Given the description of an element on the screen output the (x, y) to click on. 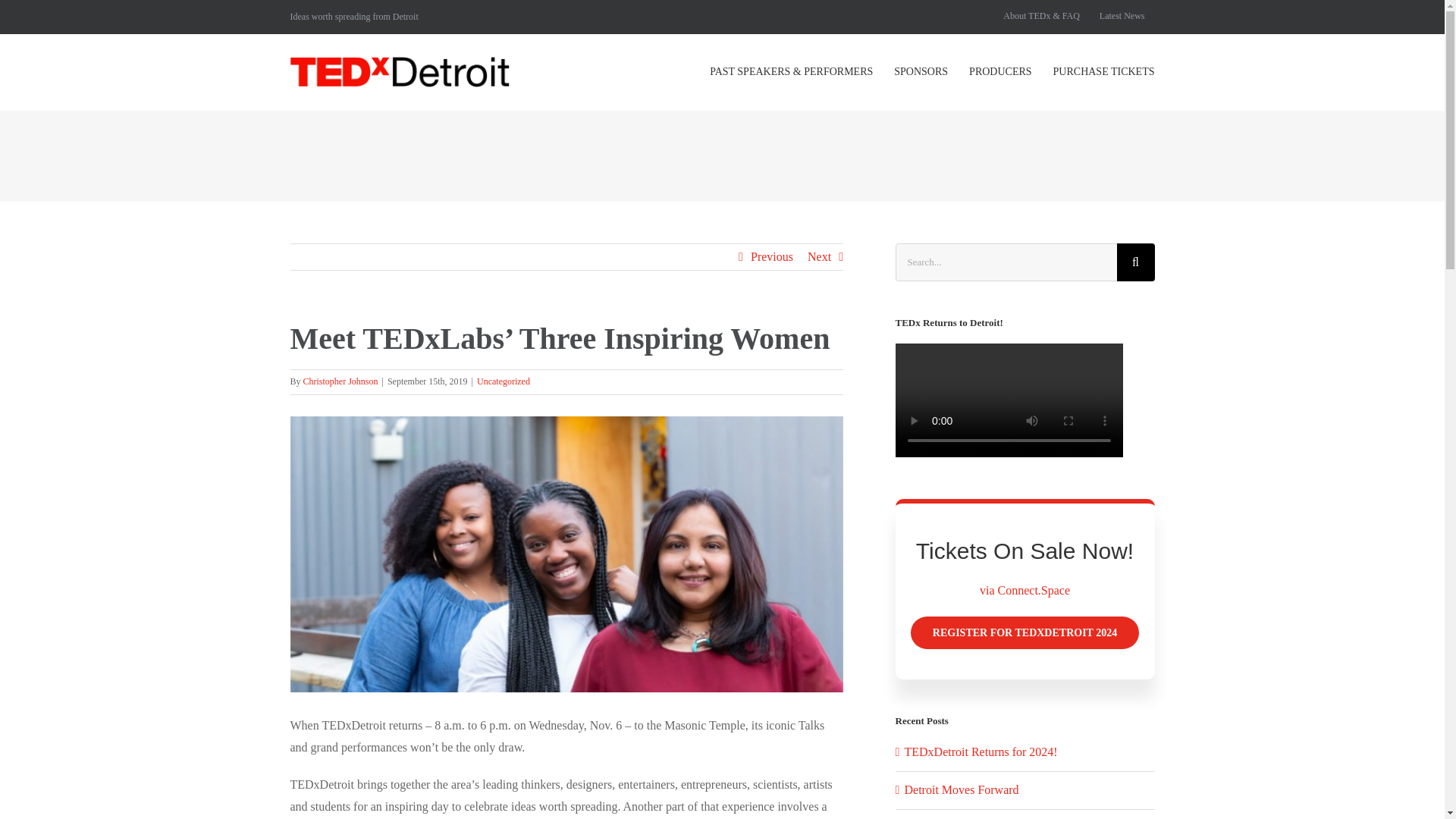
PRODUCERS (999, 71)
PURCHASE TICKETS (1103, 71)
via Connect.Space (1024, 590)
Posts by Christopher Johnson (340, 380)
SPONSORS (920, 71)
Next (819, 257)
Detroit Moves Forward (960, 789)
TEDxDetroit Returns for 2024! (980, 751)
Latest News (1121, 16)
Previous (772, 257)
Christopher Johnson (340, 380)
Uncategorized (503, 380)
REGISTER FOR TEDXDETROIT 2024 (1024, 632)
